Given the description of an element on the screen output the (x, y) to click on. 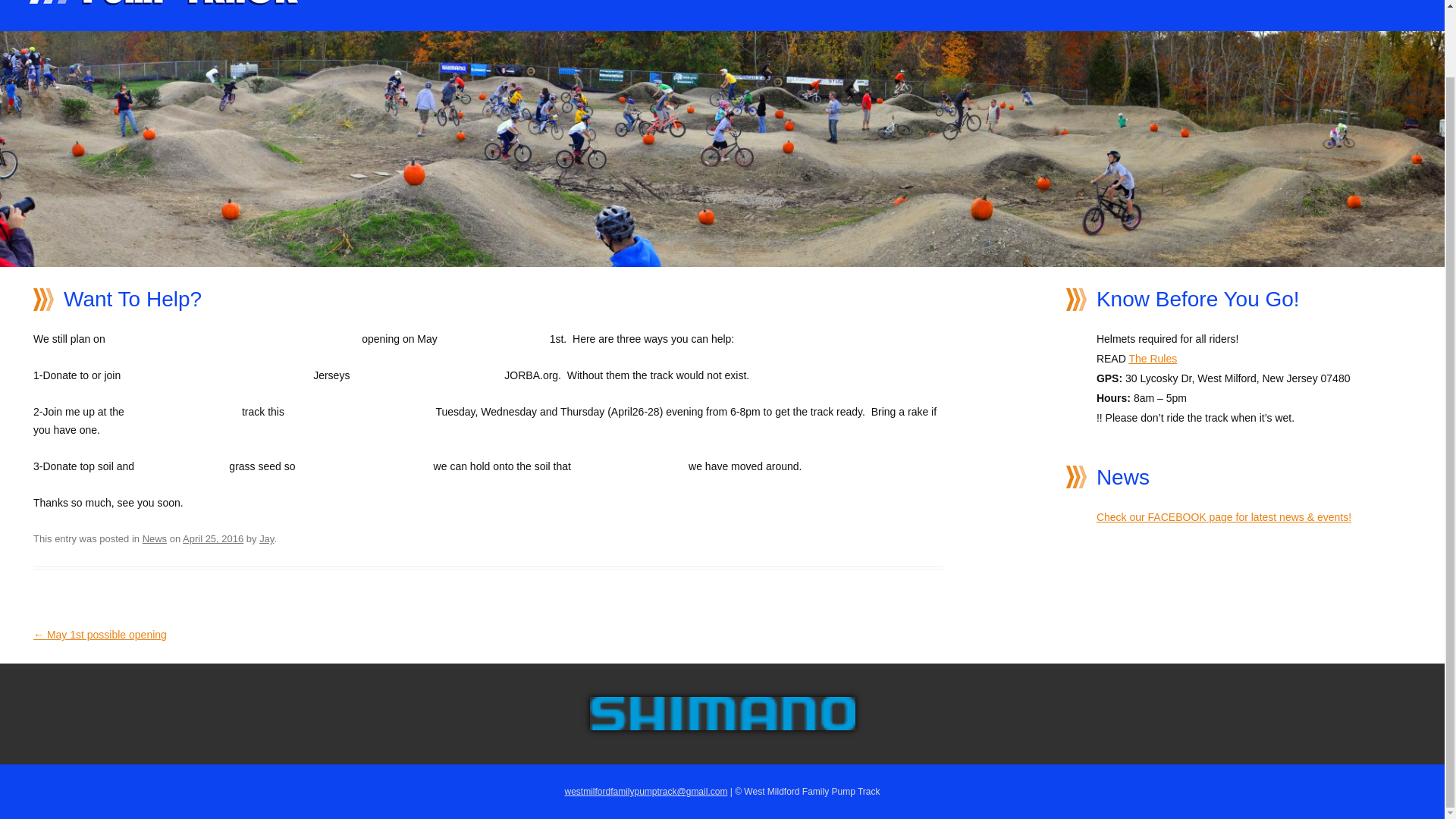
West Mildford Family Pump Track (164, 7)
View all posts by Jay (266, 538)
April 25, 2016 (213, 538)
Jay (266, 538)
1:48 pm (213, 538)
The Rules (1152, 358)
News (154, 538)
